Given the description of an element on the screen output the (x, y) to click on. 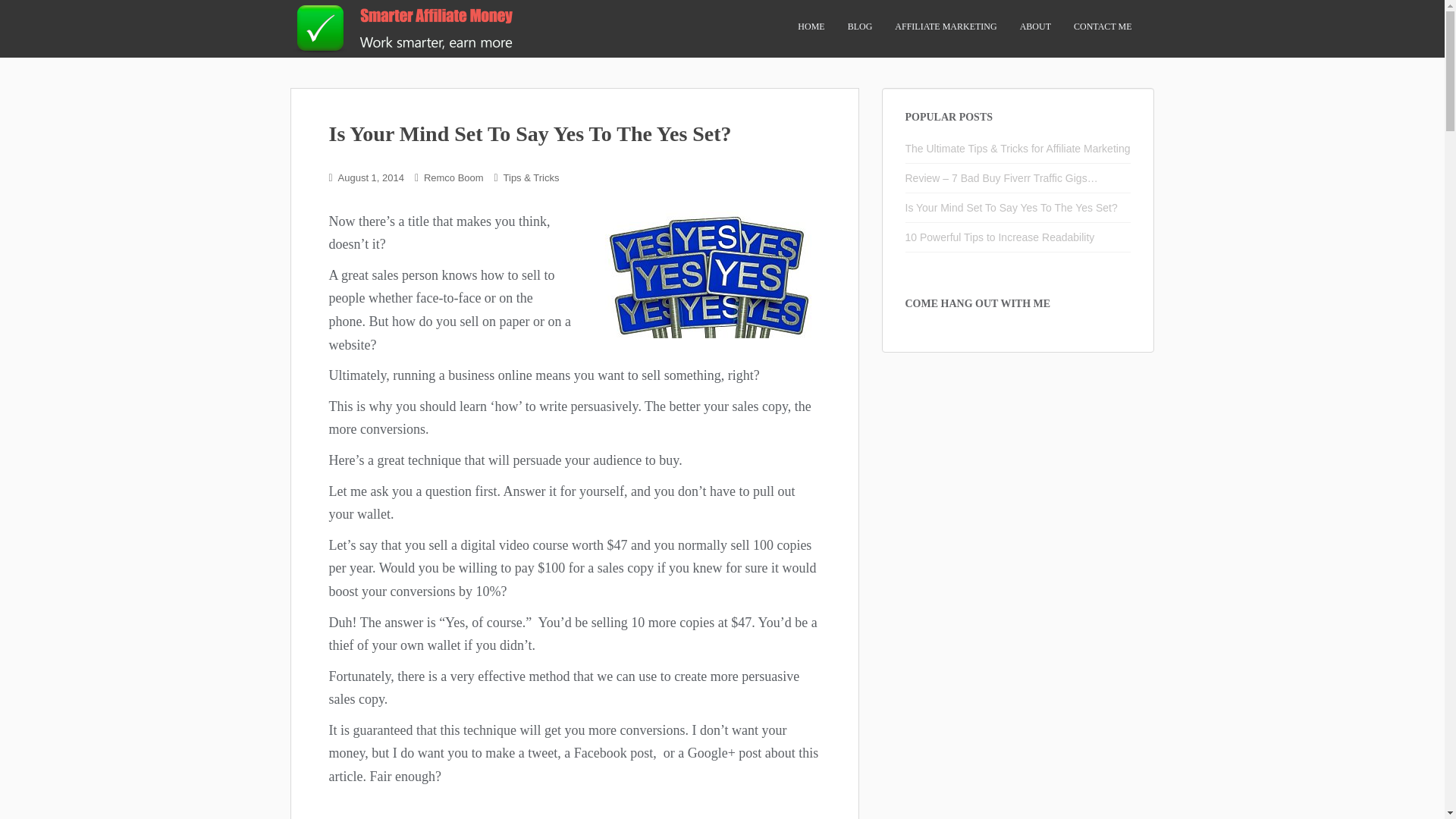
Remco Boom (453, 177)
Who is Remco Boom (1035, 26)
AFFILIATE MARKETING (945, 26)
August 1, 2014 (370, 177)
10 Powerful Tips to Increase Readability (999, 236)
CONTACT ME (1103, 26)
Is Your Mind Set To Say Yes To The Yes Set? (1011, 207)
ABOUT (1035, 26)
